Given the description of an element on the screen output the (x, y) to click on. 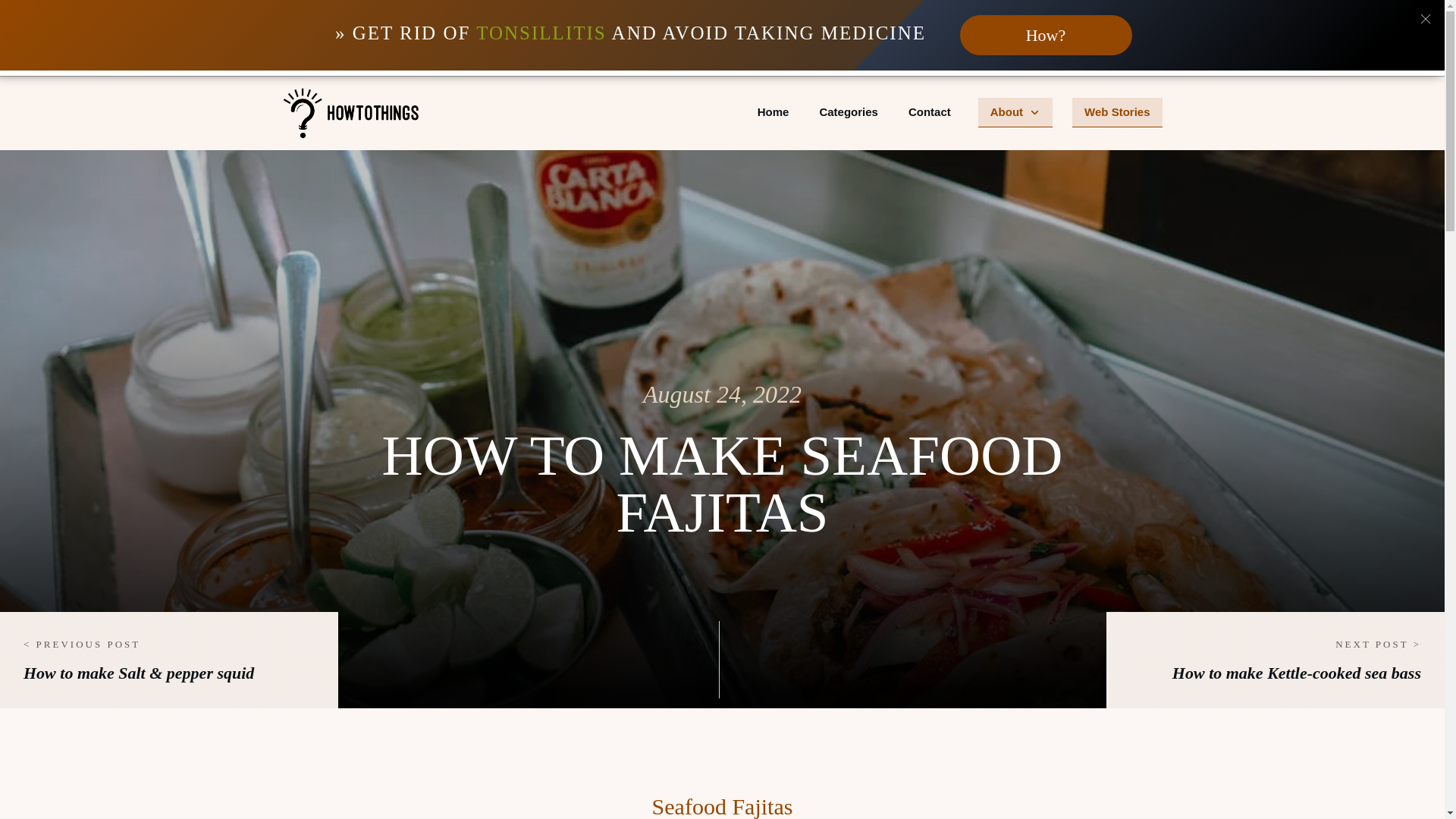
Categories (847, 111)
Contact (929, 111)
Home (773, 111)
How? (1045, 35)
Web Stories (1117, 111)
About (1015, 111)
